Given the description of an element on the screen output the (x, y) to click on. 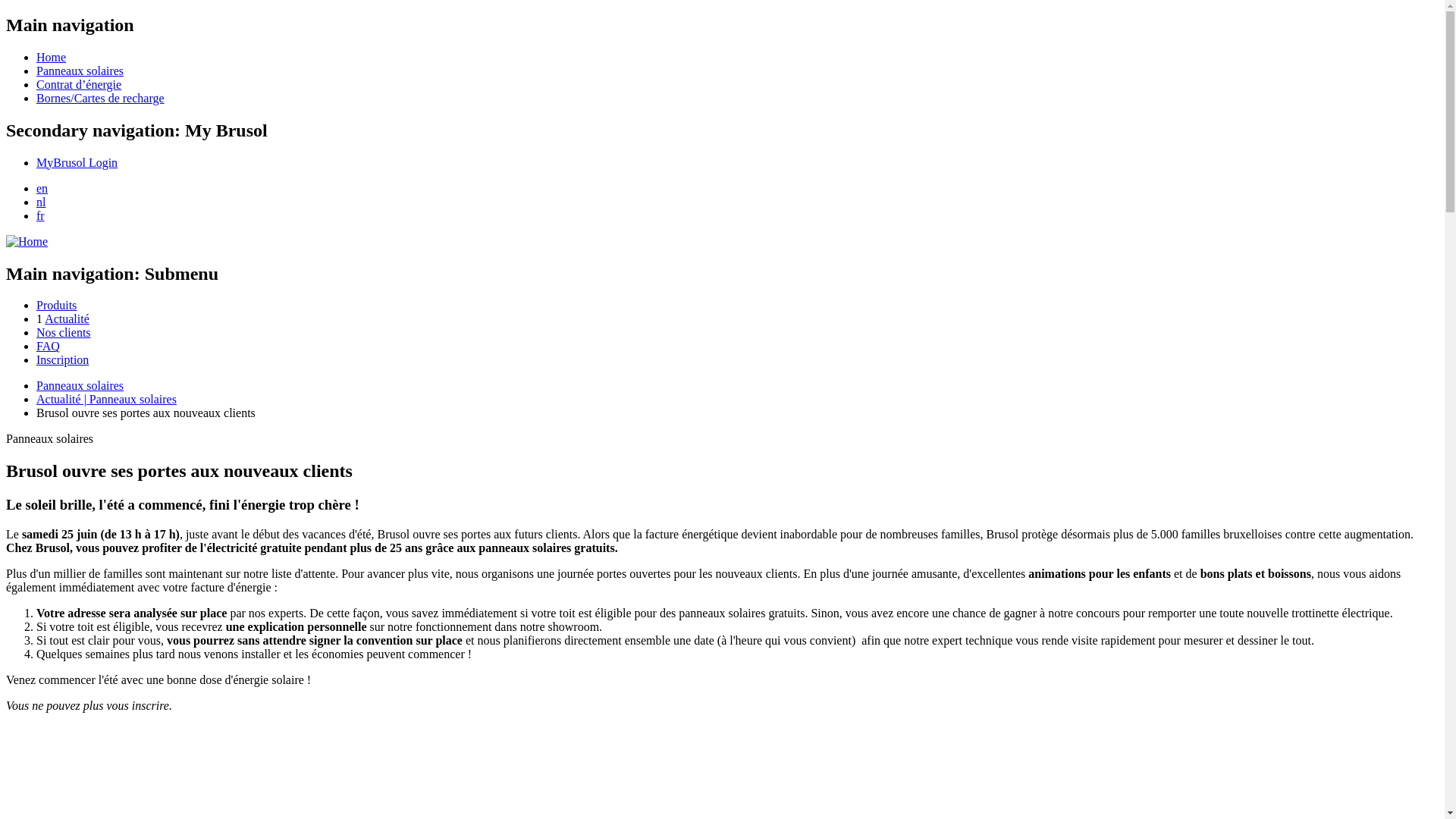
MyBrusol Login Element type: text (76, 162)
Panneaux solaires Element type: text (79, 385)
Home Element type: text (50, 56)
Nos clients Element type: text (63, 332)
Home Element type: hover (26, 241)
Bornes/Cartes de recharge Element type: text (100, 97)
FAQ Element type: text (47, 345)
Panneaux solaires Element type: text (79, 70)
en Element type: text (41, 188)
nl Element type: text (40, 201)
Inscription Element type: text (62, 359)
Produits Element type: text (56, 304)
fr Element type: text (40, 215)
